Given the description of an element on the screen output the (x, y) to click on. 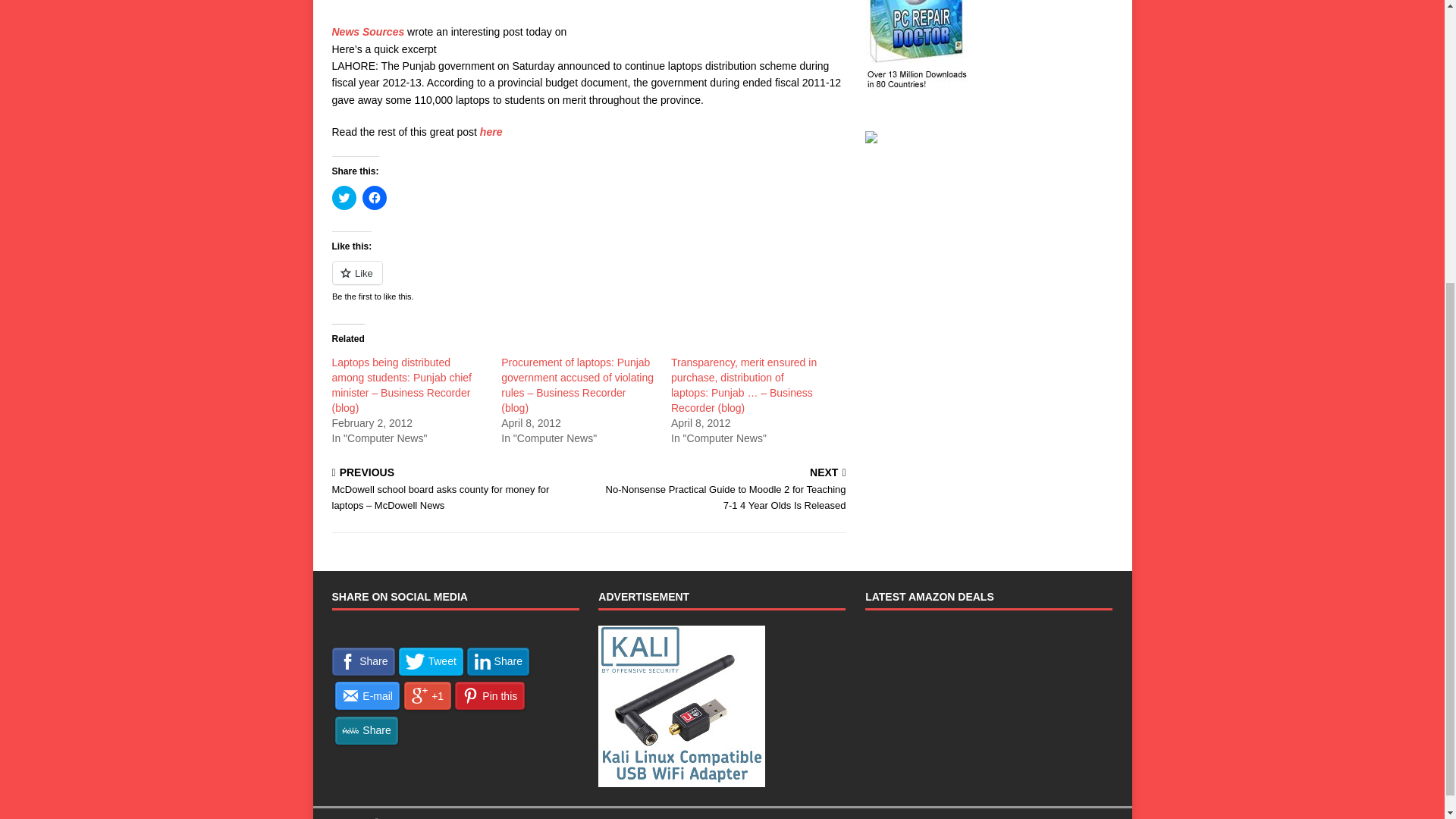
Share (498, 661)
Advertisement (588, 11)
Pin this (489, 695)
News Sources (367, 31)
Share (362, 661)
Click to share on Facebook (374, 197)
Like or Reblog (588, 281)
E-mail (367, 695)
Click to share on Twitter (343, 197)
Tweet (430, 661)
Share (365, 730)
here (491, 132)
